Given the description of an element on the screen output the (x, y) to click on. 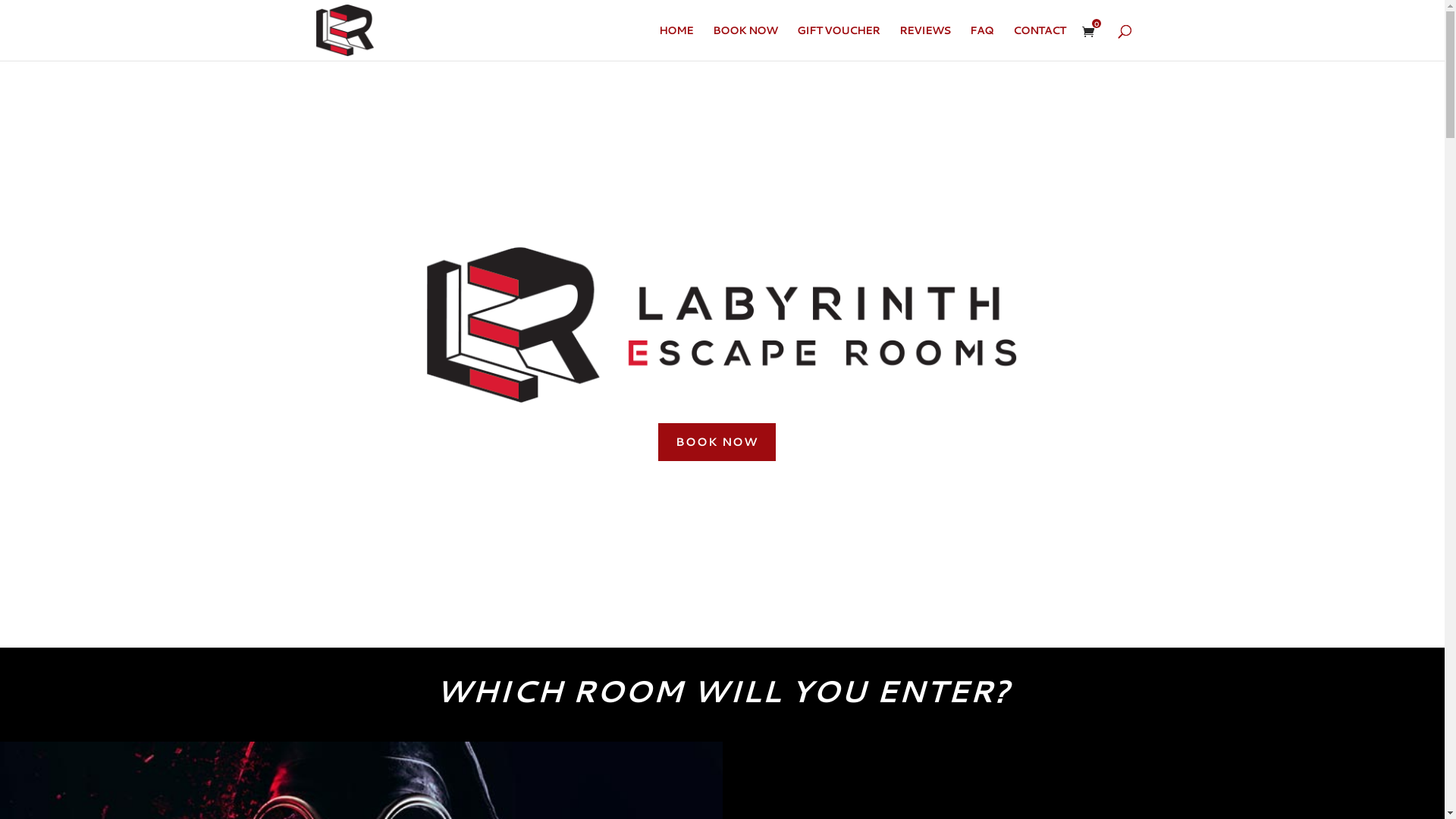
BOOK NOW Element type: text (744, 42)
CONTACT Element type: text (1039, 42)
REVIEWS Element type: text (924, 42)
HOME Element type: text (675, 42)
FAQ Element type: text (980, 42)
GIFT VOUCHER Element type: text (837, 42)
BOOK NOW Element type: text (716, 442)
